Given the description of an element on the screen output the (x, y) to click on. 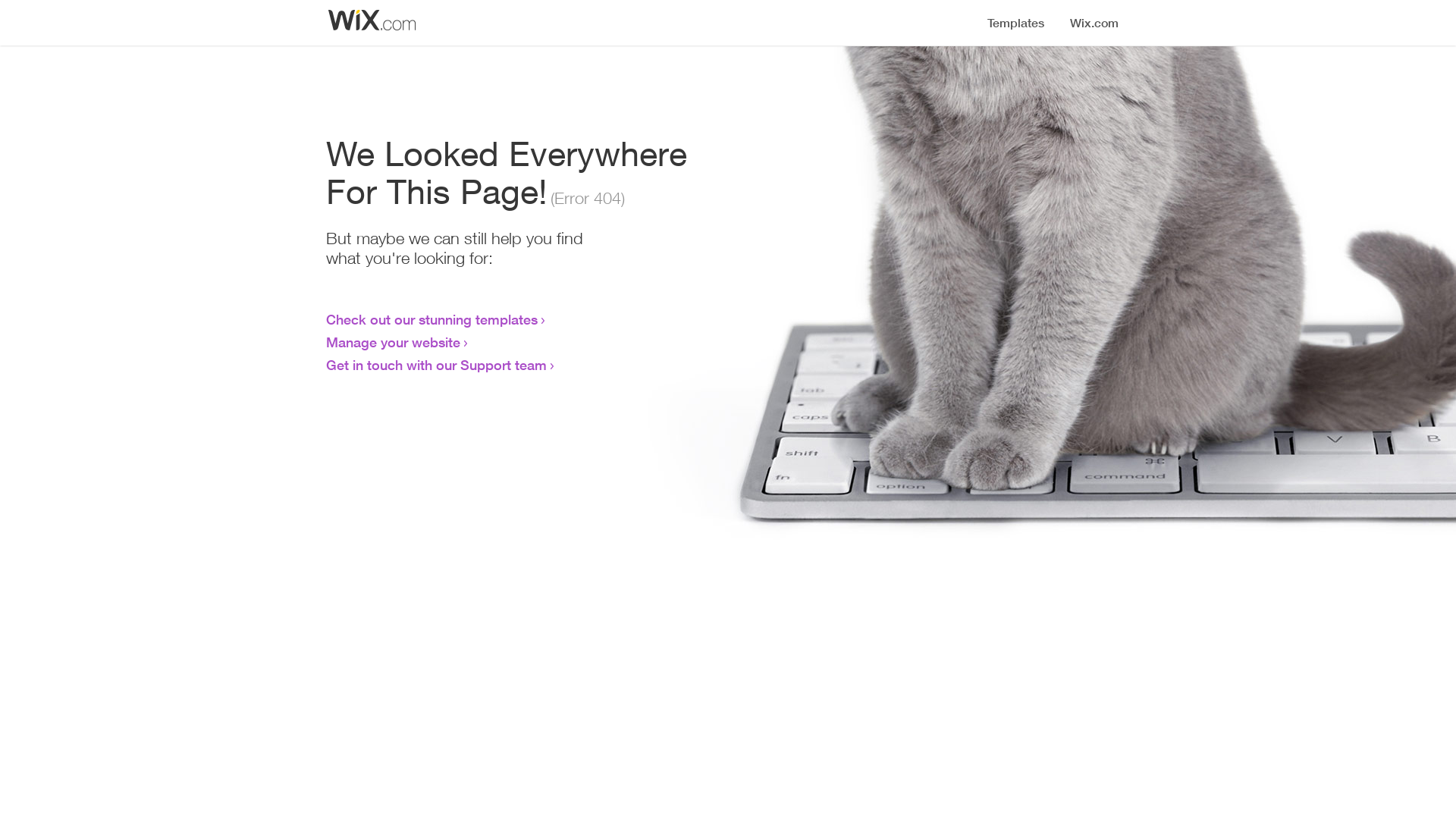
Check out our stunning templates Element type: text (431, 318)
Manage your website Element type: text (393, 341)
Get in touch with our Support team Element type: text (436, 364)
